Given the description of an element on the screen output the (x, y) to click on. 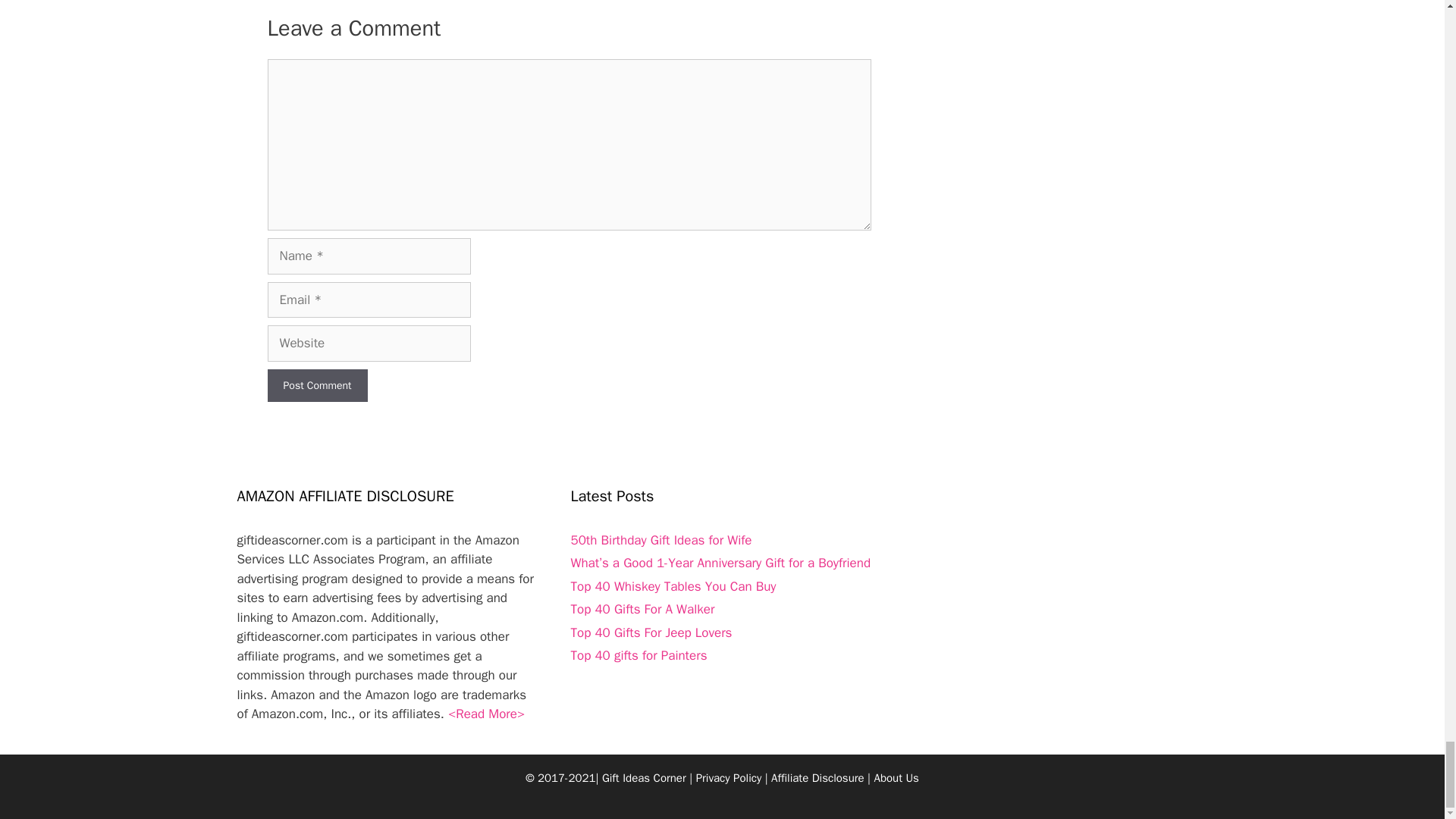
Post Comment (316, 385)
50th Birthday Gift Ideas for Wife (660, 539)
Post Comment (316, 385)
